Given the description of an element on the screen output the (x, y) to click on. 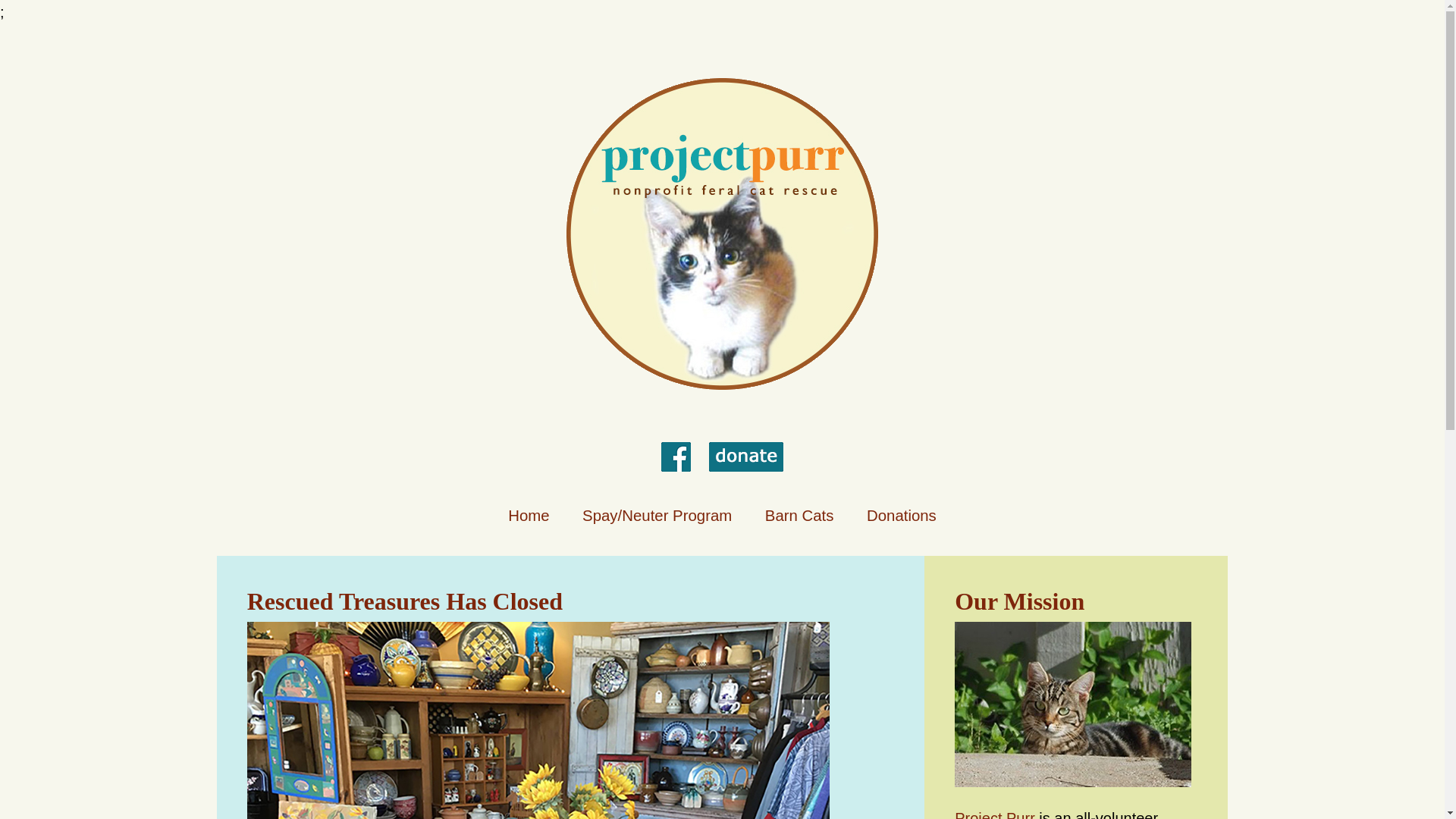
Project Purr (995, 814)
Home (528, 515)
Donations (901, 515)
Barn Cats (799, 515)
